Given the description of an element on the screen output the (x, y) to click on. 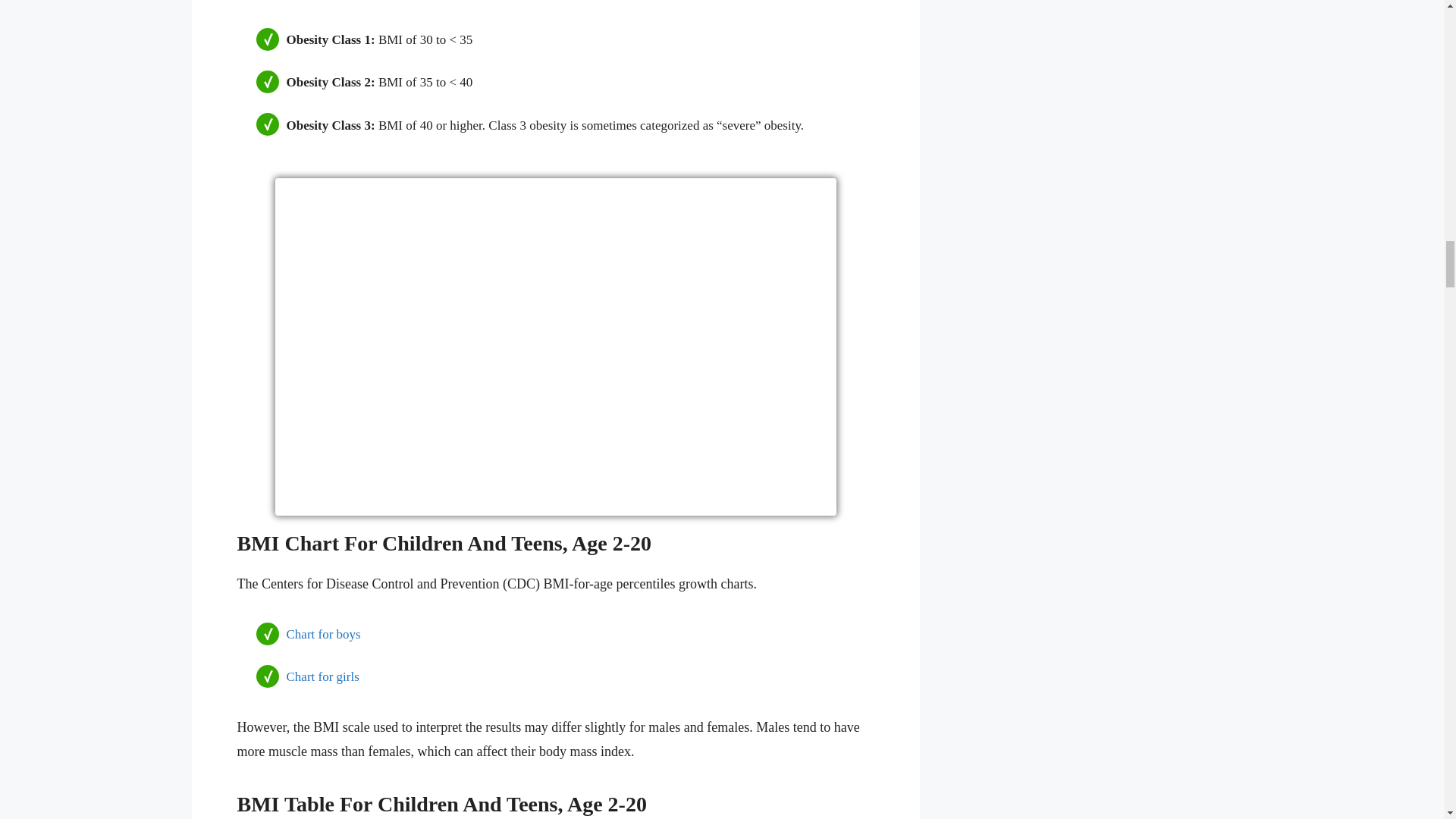
Chart for girls (322, 676)
Chart for boys (323, 634)
